Given the description of an element on the screen output the (x, y) to click on. 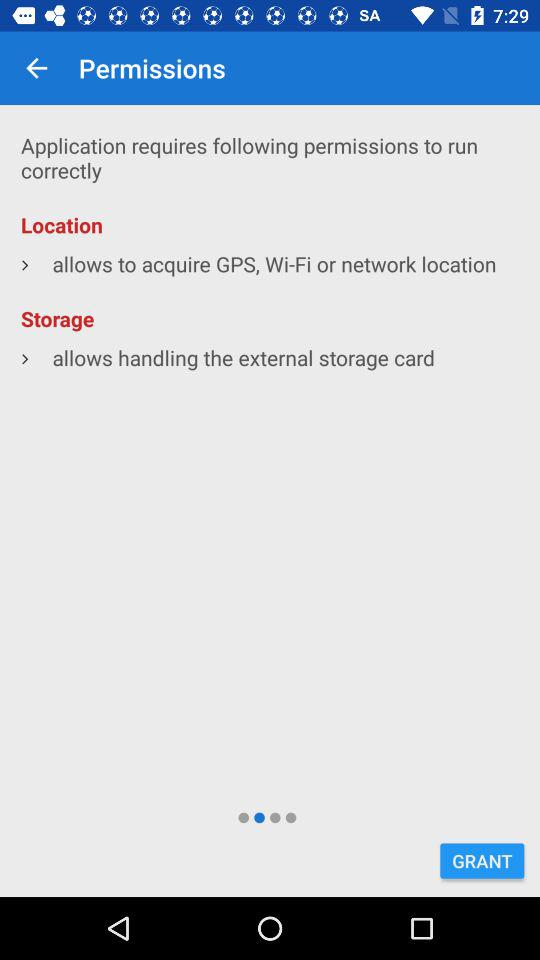
press item next to permissions (36, 68)
